Given the description of an element on the screen output the (x, y) to click on. 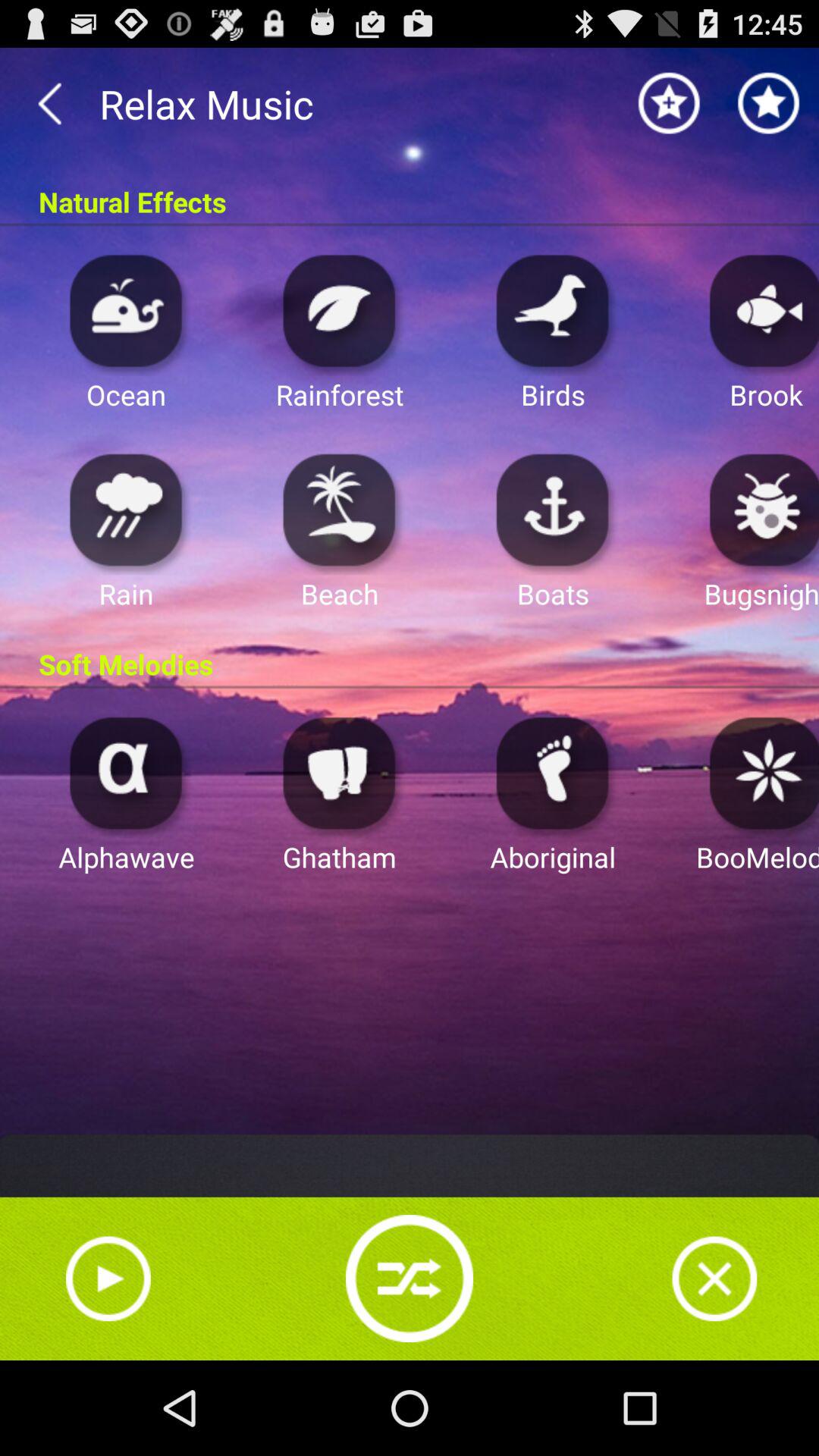
flip to relax music (409, 103)
